Given the description of an element on the screen output the (x, y) to click on. 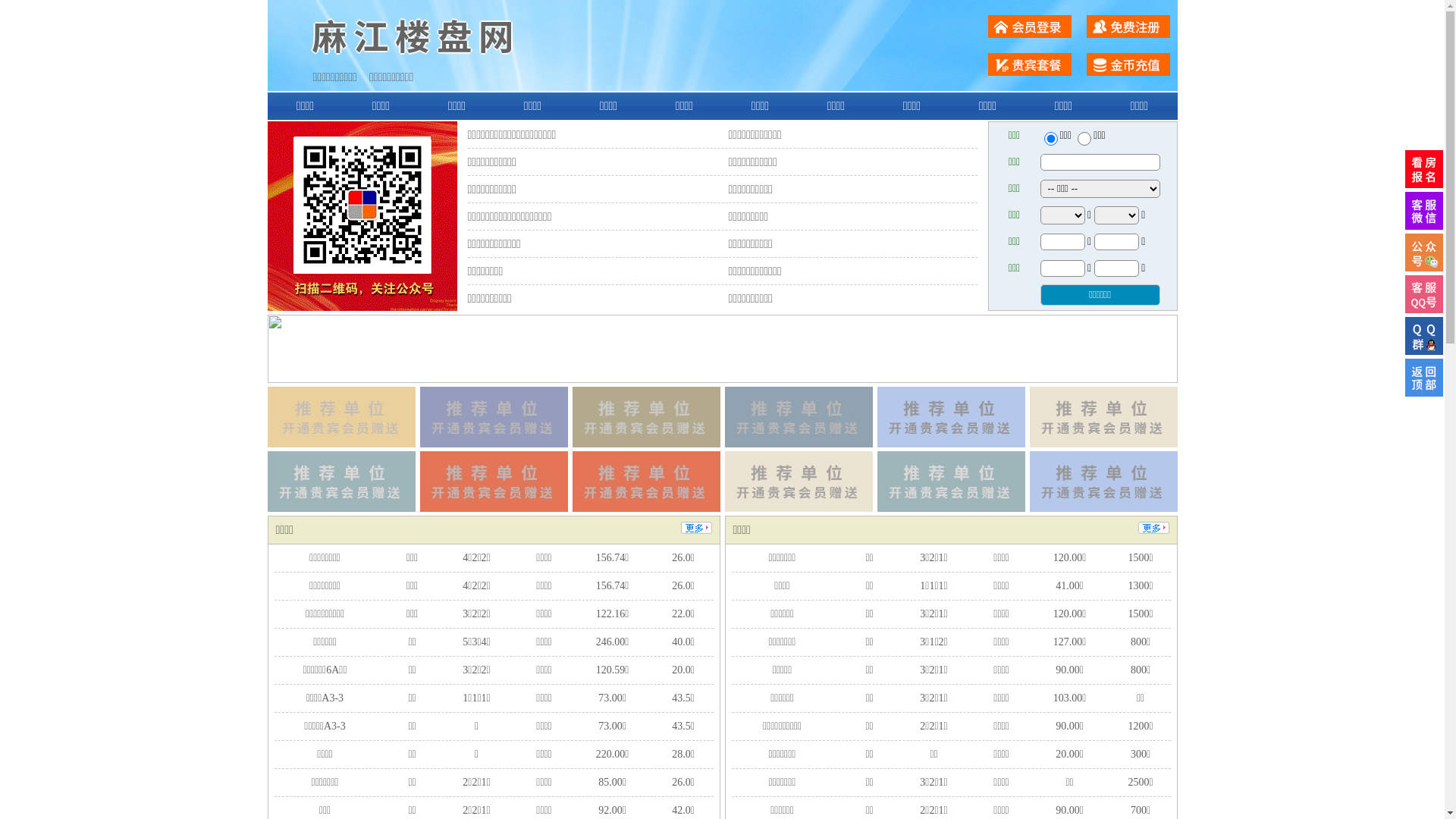
ershou Element type: text (1050, 138)
chuzu Element type: text (1084, 138)
